Given the description of an element on the screen output the (x, y) to click on. 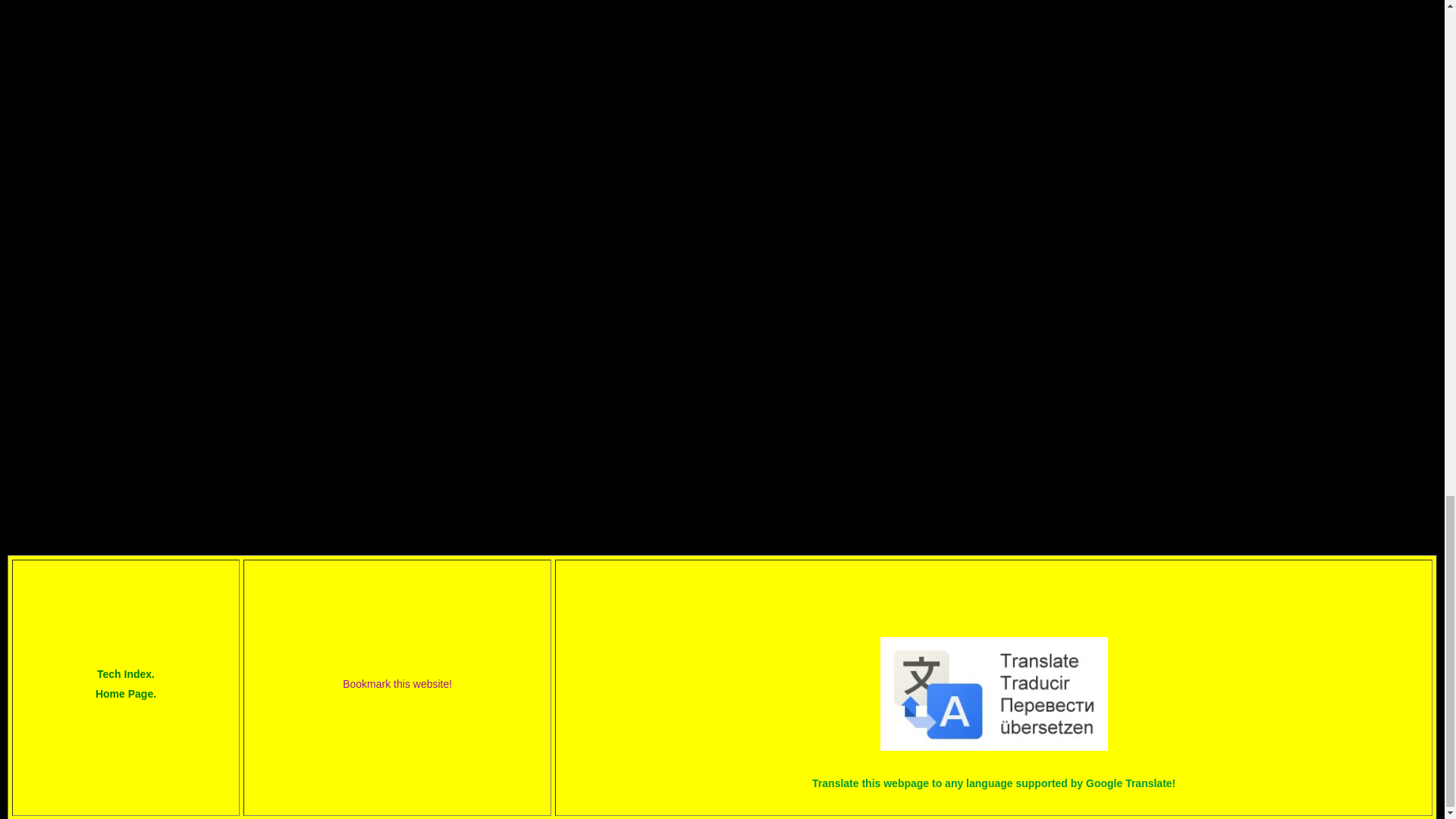
Bookmark this website! (397, 683)
Home Page. (125, 693)
Tech Index. (124, 673)
